Given the description of an element on the screen output the (x, y) to click on. 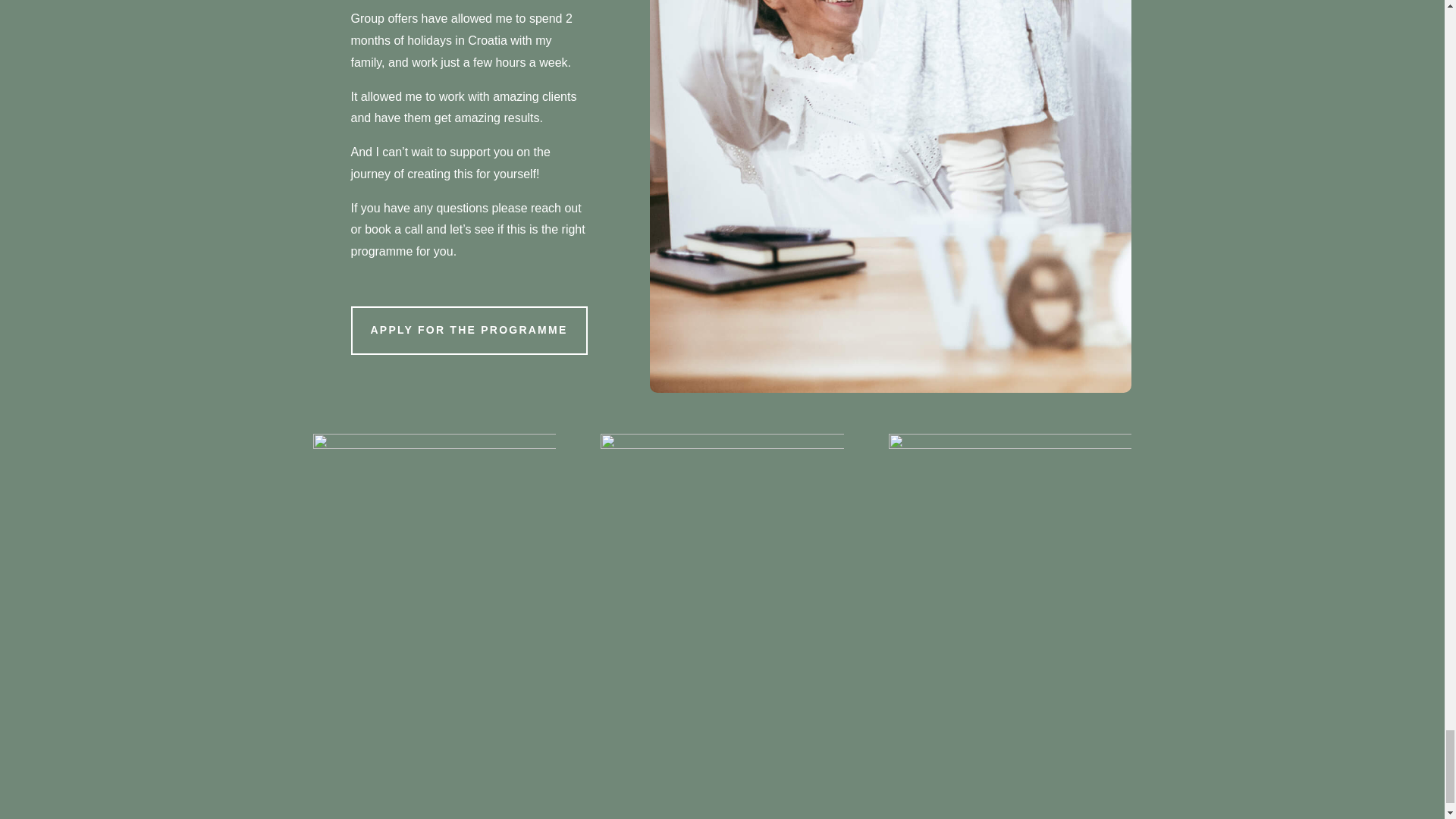
APPLY FOR THE PROGRAMME (468, 330)
